Given the description of an element on the screen output the (x, y) to click on. 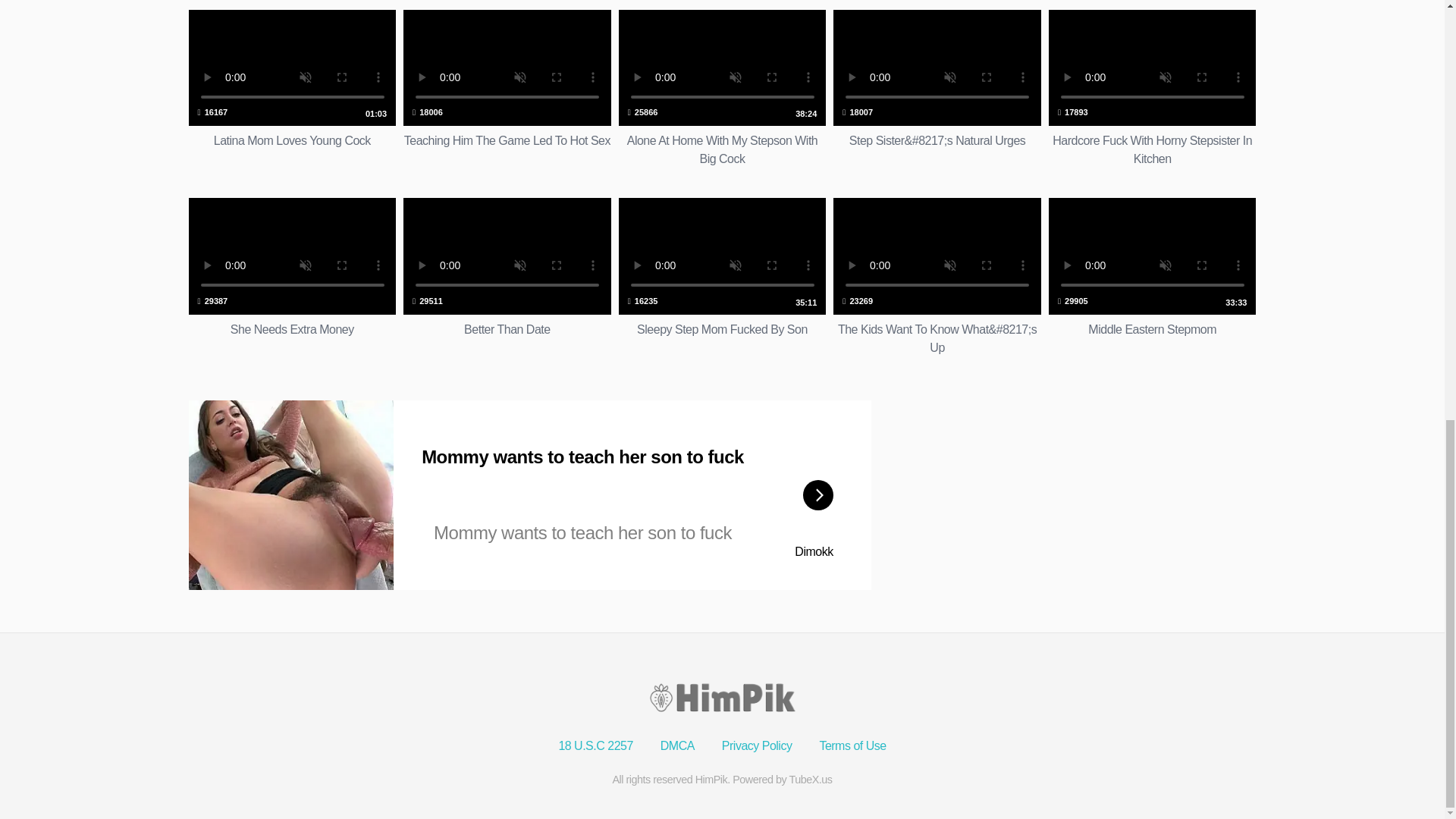
Sleepy Step Mom Fucked By Son (722, 277)
Terms of Use (722, 88)
Teaching Him The Game Led To Hot Sex (851, 745)
Better Than Date (291, 277)
Privacy Policy (1152, 277)
She Needs Extra Money (507, 88)
Latina Mom Loves Young Cock (507, 277)
Alone At Home With My Stepson With Big Cock (757, 745)
18 U.S.C 2257 (291, 277)
